Given the description of an element on the screen output the (x, y) to click on. 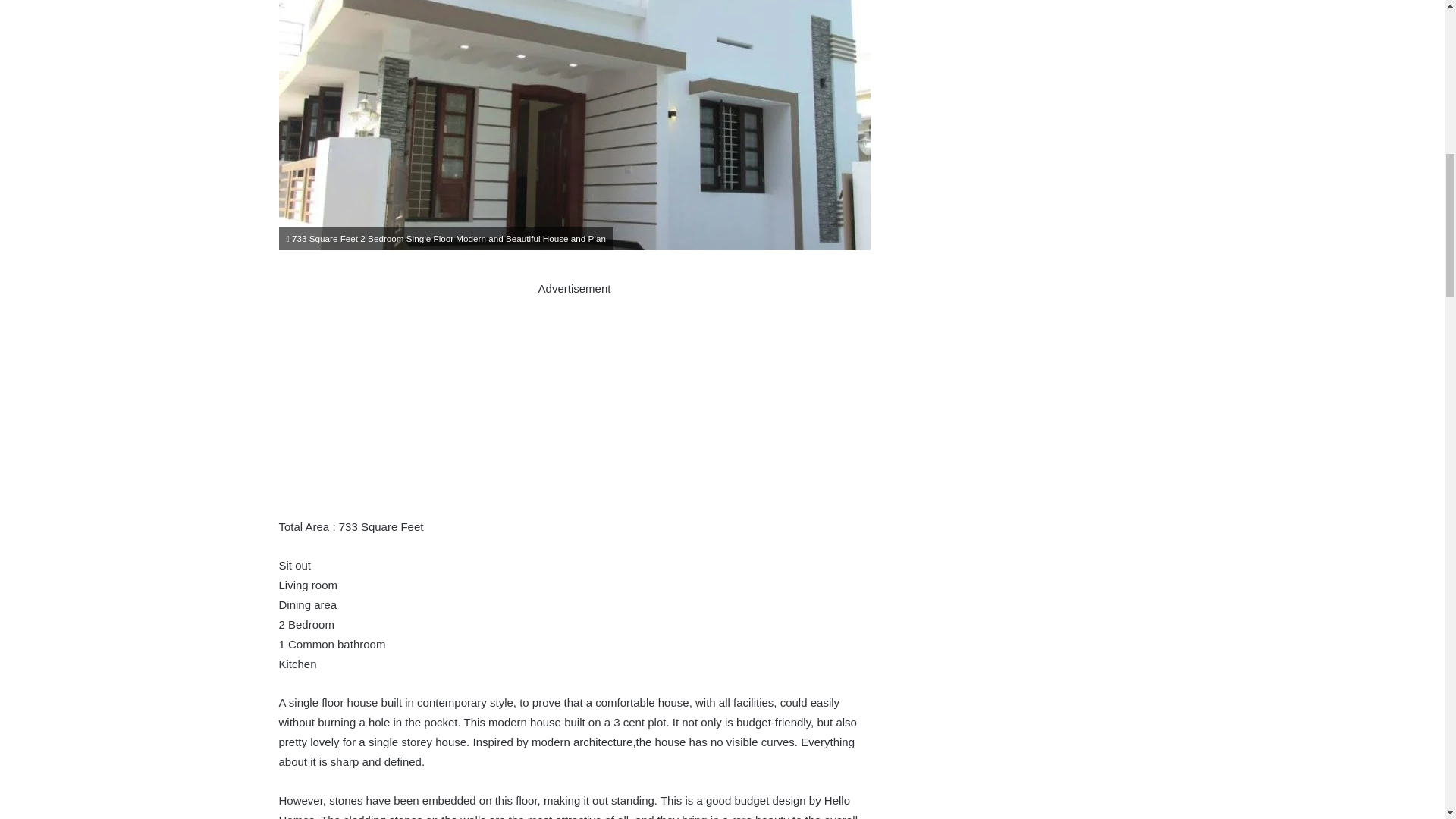
Advertisement (574, 404)
